Given the description of an element on the screen output the (x, y) to click on. 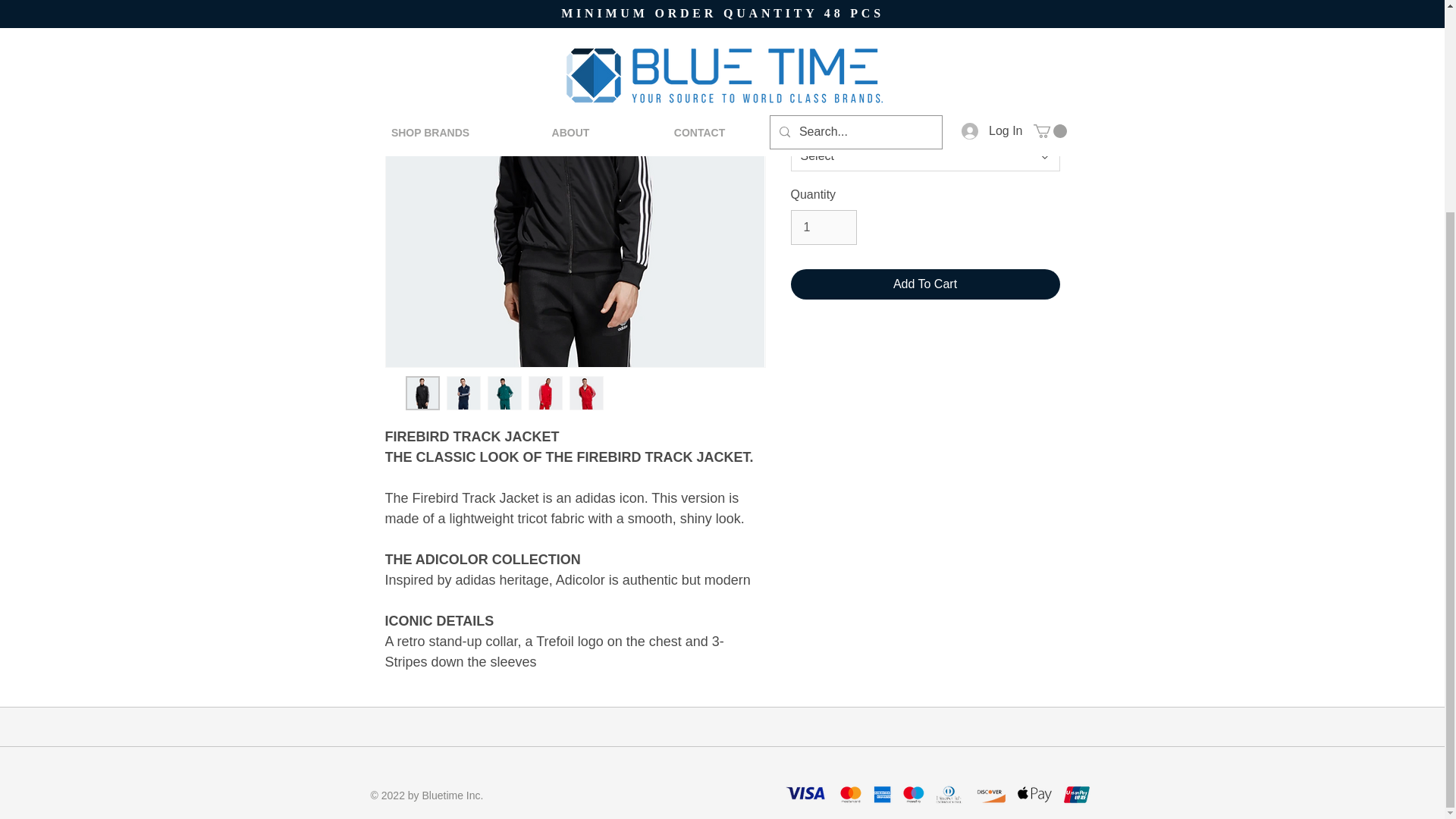
Add To Cart (924, 284)
1 (823, 226)
Select (924, 155)
